Given the description of an element on the screen output the (x, y) to click on. 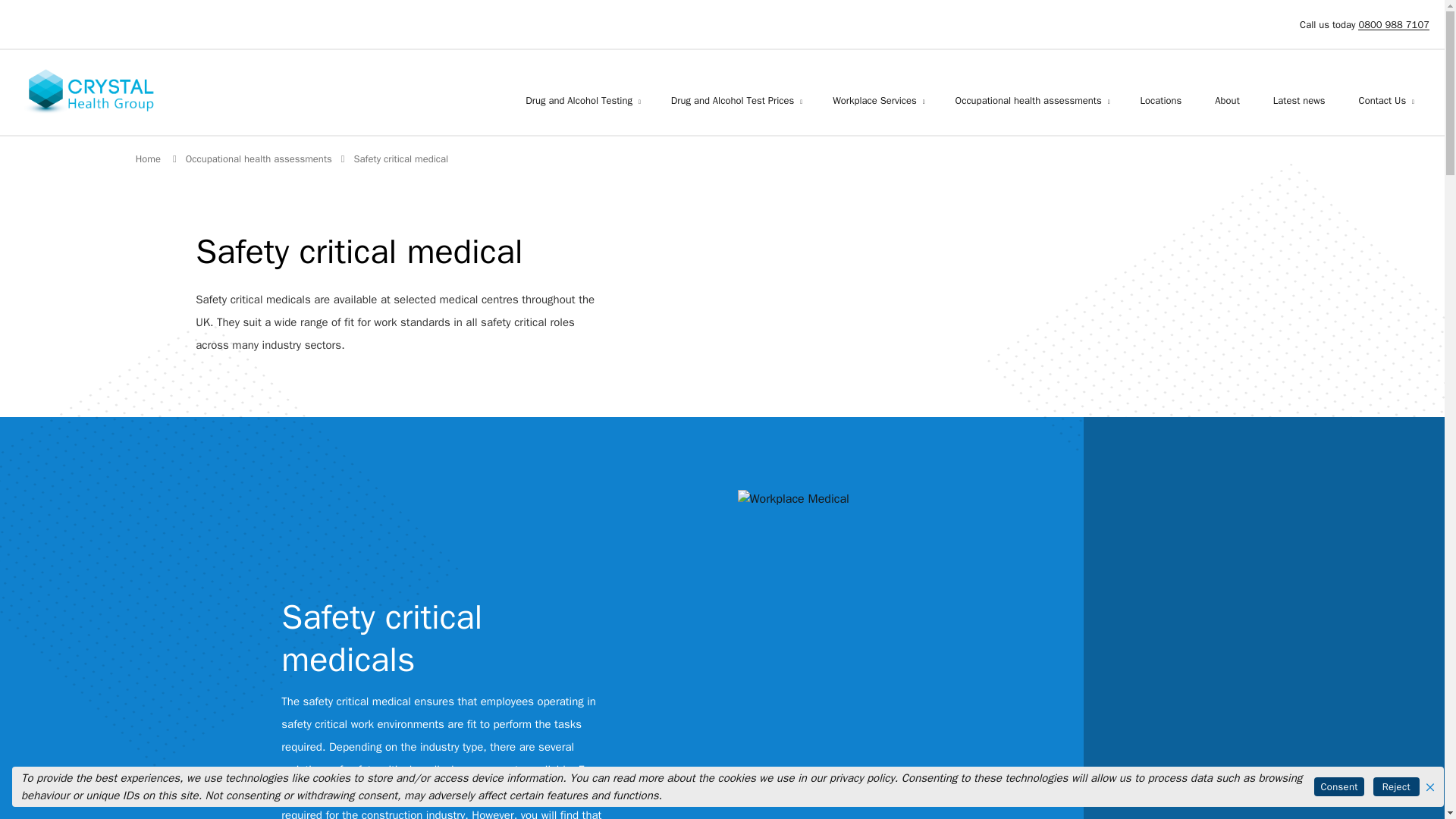
privacy policy (862, 777)
Consent (1338, 786)
Reject (1396, 786)
